Given the description of an element on the screen output the (x, y) to click on. 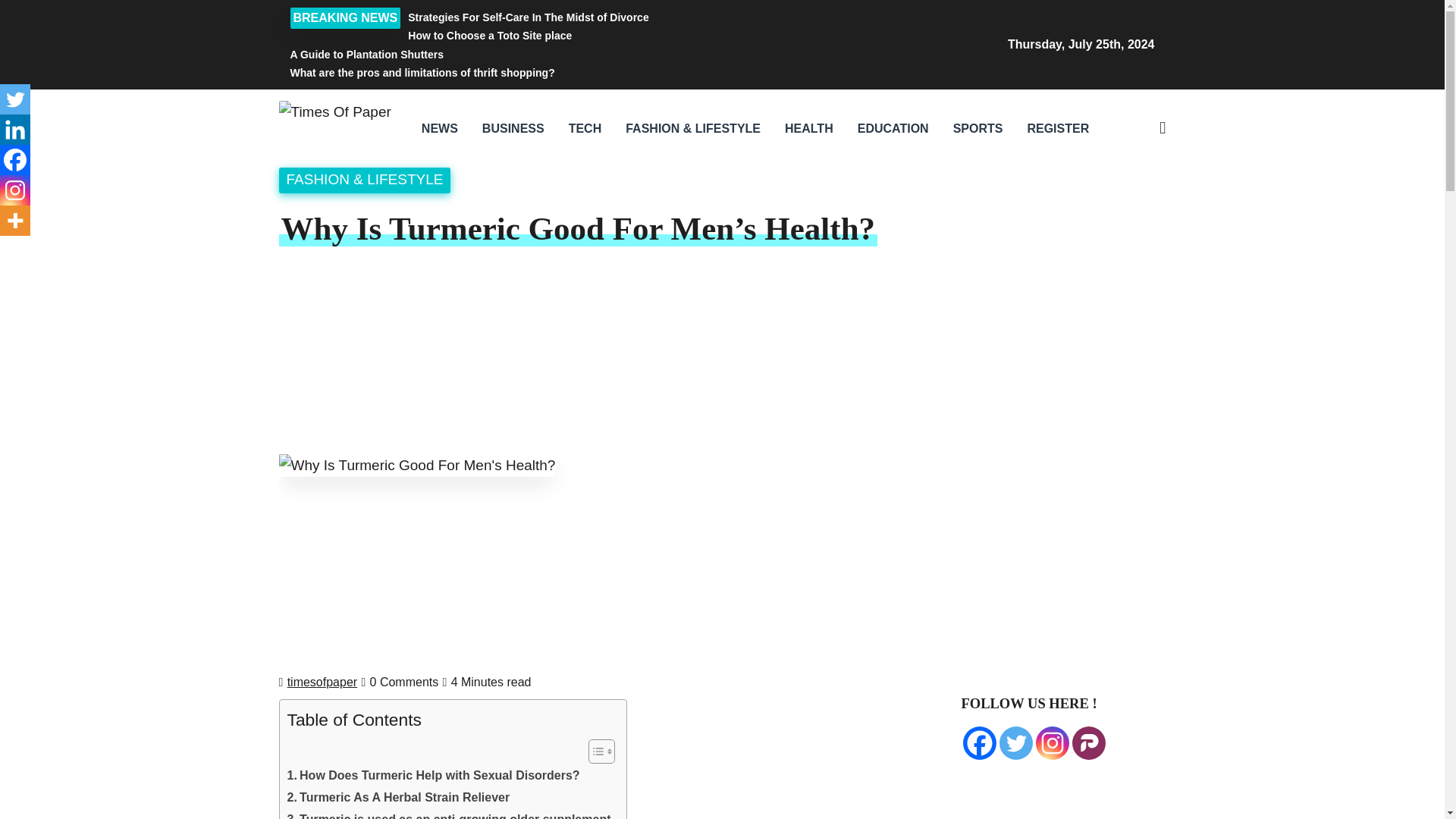
Strategies For Self-Care In The Midst of Divorce (574, 17)
timesofpaper (322, 681)
A Guide to Plantation Shutters (574, 54)
Instagram (1051, 743)
How Does Turmeric Help with Sexual Disorders? (432, 775)
Twitter (1015, 743)
Turmeric is used as an anti-growing older supplement (448, 814)
Linkedin (15, 129)
Turmeric As A Herbal Strain Reliever (397, 797)
SPORTS (977, 128)
REGISTER (1057, 128)
NEWS (439, 128)
EDUCATION (892, 128)
Facebook (978, 743)
Search (1045, 209)
